Given the description of an element on the screen output the (x, y) to click on. 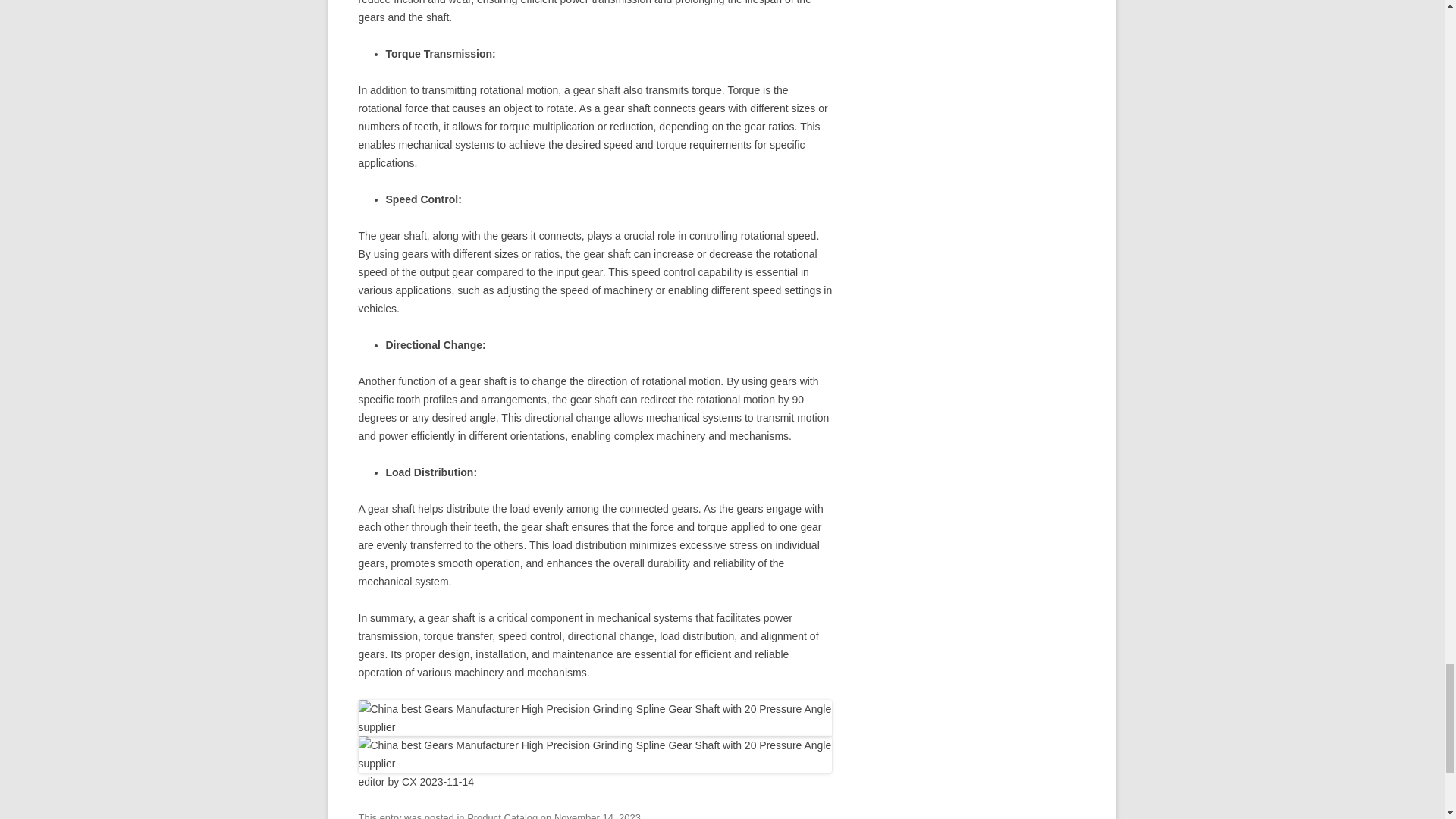
1:28 am (597, 815)
November 14, 2023 (597, 815)
Product Catalog (502, 815)
